Given the description of an element on the screen output the (x, y) to click on. 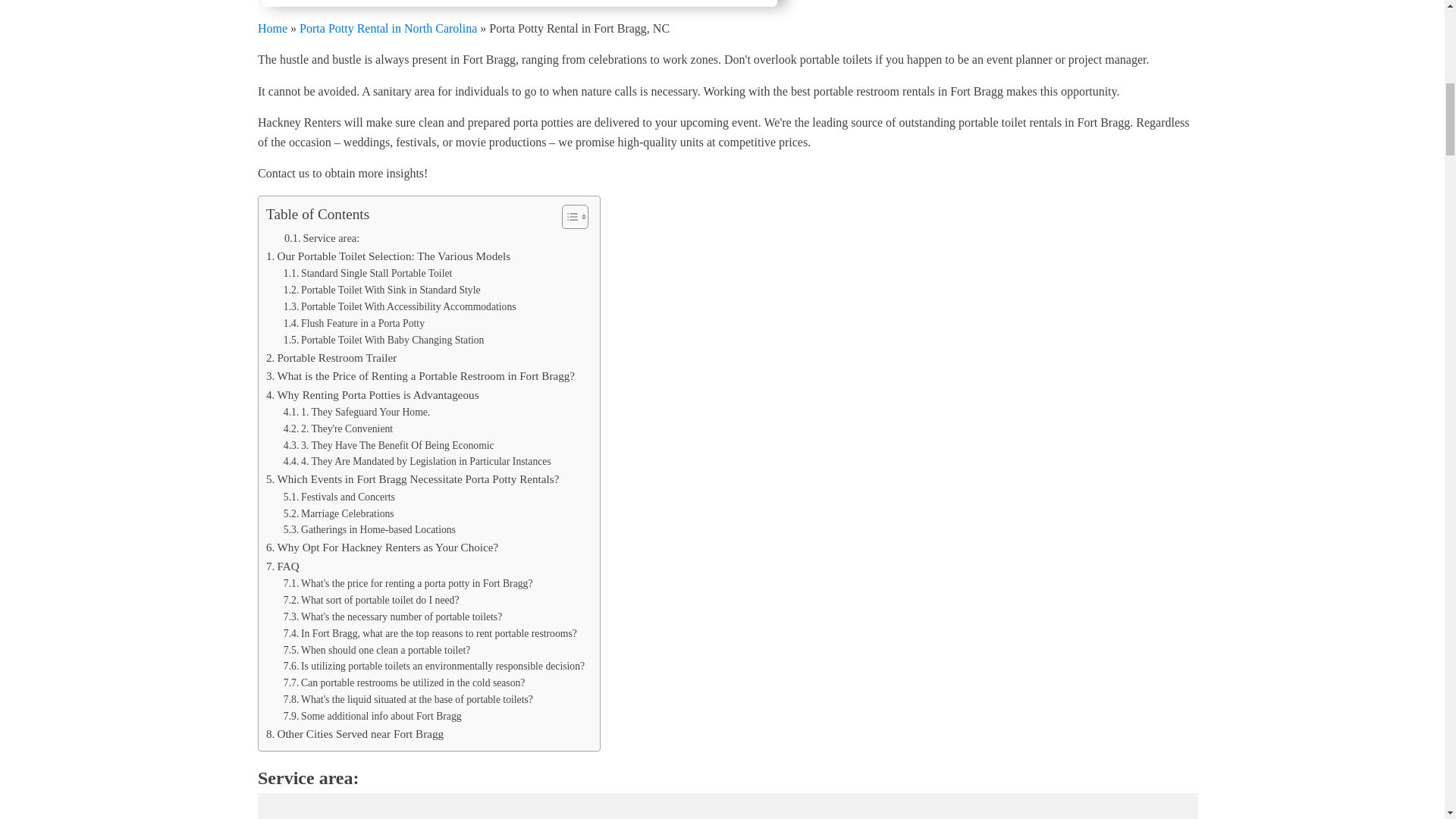
Why Renting Porta Potties is Advantageous (372, 393)
Portable Toilet With Baby Changing Station (383, 340)
Portable Toilet With Accessibility Accommodations (399, 306)
Standard Single Stall Portable Toilet (367, 273)
Festivals and Concerts (338, 497)
Service area: (321, 238)
Flush Feature in a Porta Potty (354, 323)
Flush Feature in a Porta Potty (354, 323)
Service area: (321, 238)
Portable Toilet With Baby Changing Station (383, 340)
4. They Are Mandated by Legislation in Particular Instances (417, 461)
Porta Potty Rental in North Carolina (388, 27)
1. They Safeguard Your Home. (356, 412)
Portable Toilet With Accessibility Accommodations (399, 306)
